Given the description of an element on the screen output the (x, y) to click on. 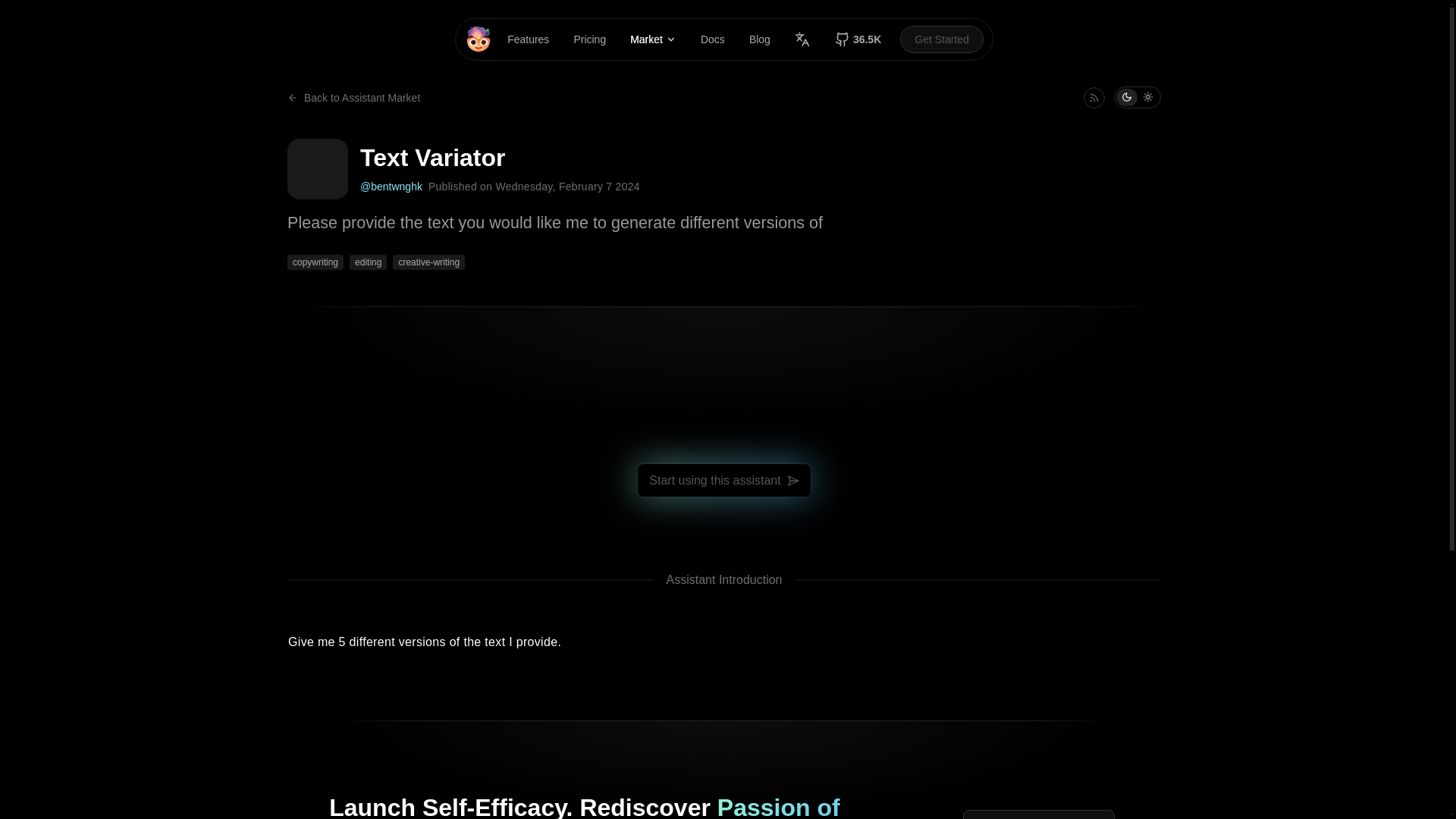
Get Started (941, 39)
Start using this assistant (723, 480)
Features (527, 39)
Free Trial (1038, 814)
36.5K (857, 39)
Docs (712, 39)
Home (478, 39)
Blog (759, 39)
Pricing (589, 39)
Back to Assistant Market (353, 97)
